Given the description of an element on the screen output the (x, y) to click on. 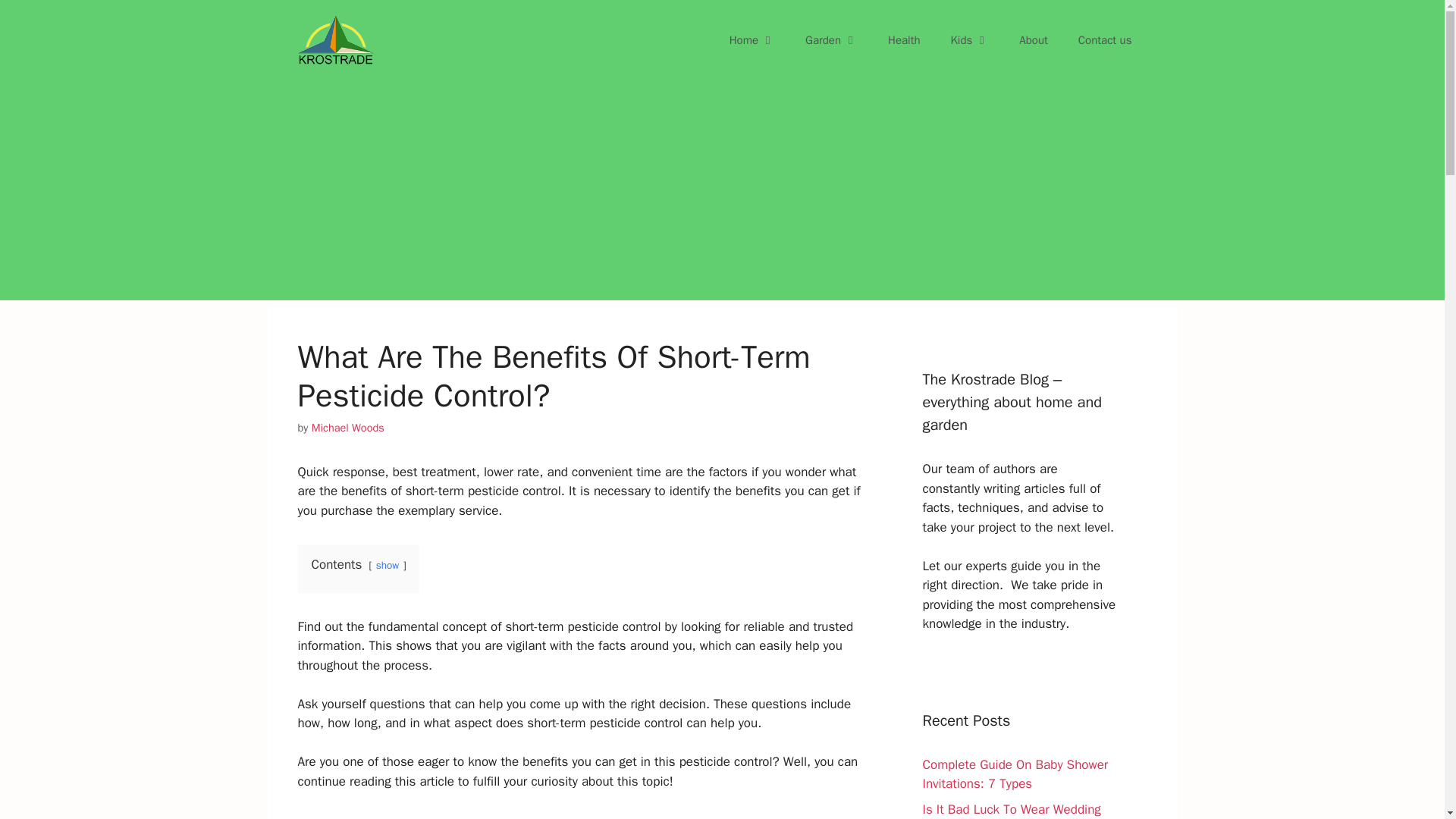
Kids (970, 40)
Health (904, 40)
show (386, 564)
Contact us (1104, 40)
Home (752, 40)
About (1033, 40)
Garden (831, 40)
View all posts by Michael Woods (347, 427)
Michael Woods (347, 427)
